Given the description of an element on the screen output the (x, y) to click on. 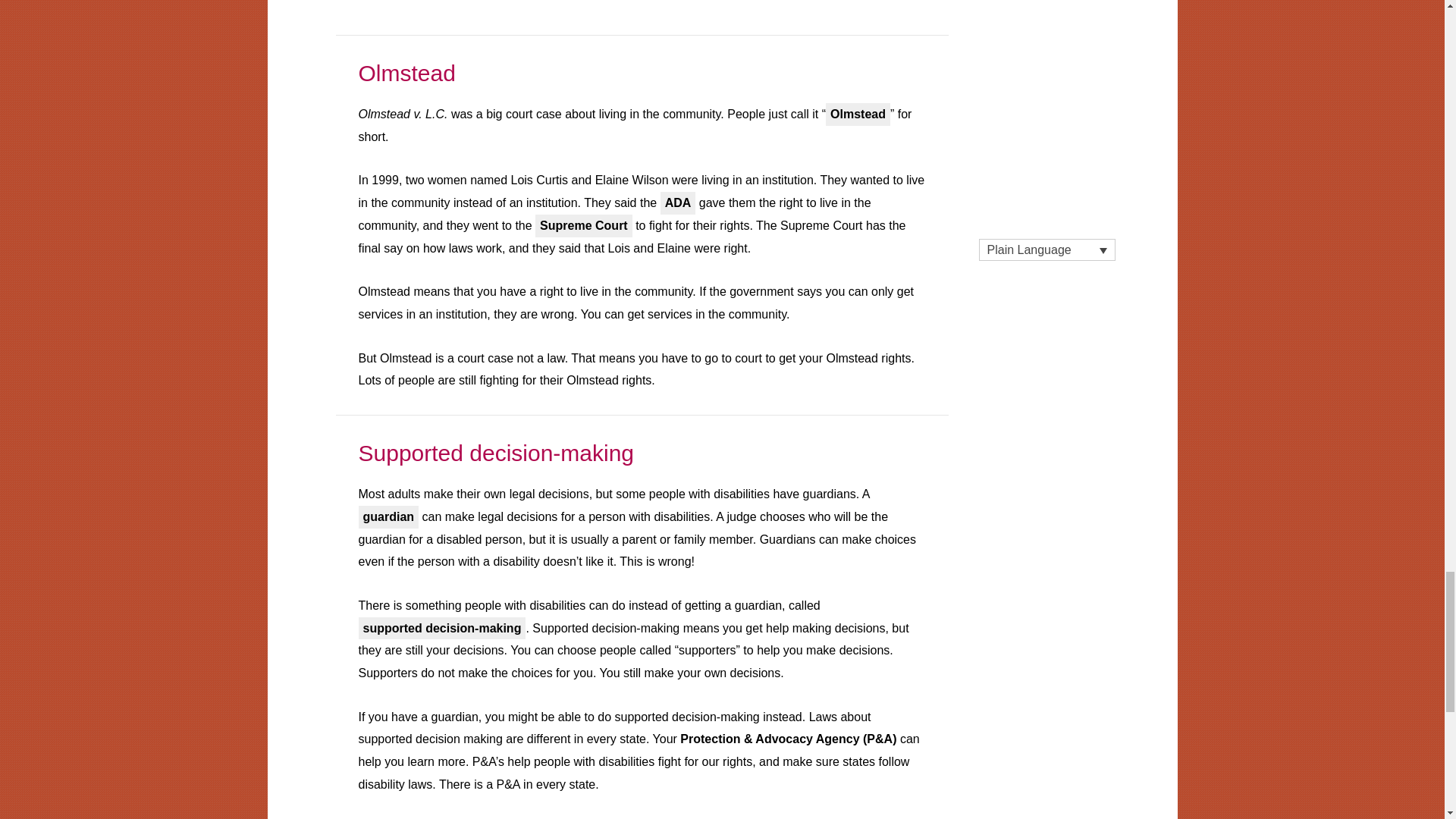
Supported decision-making (495, 453)
Olmstead (406, 72)
Supported decision-making (495, 453)
Olmstead (406, 72)
